Given the description of an element on the screen output the (x, y) to click on. 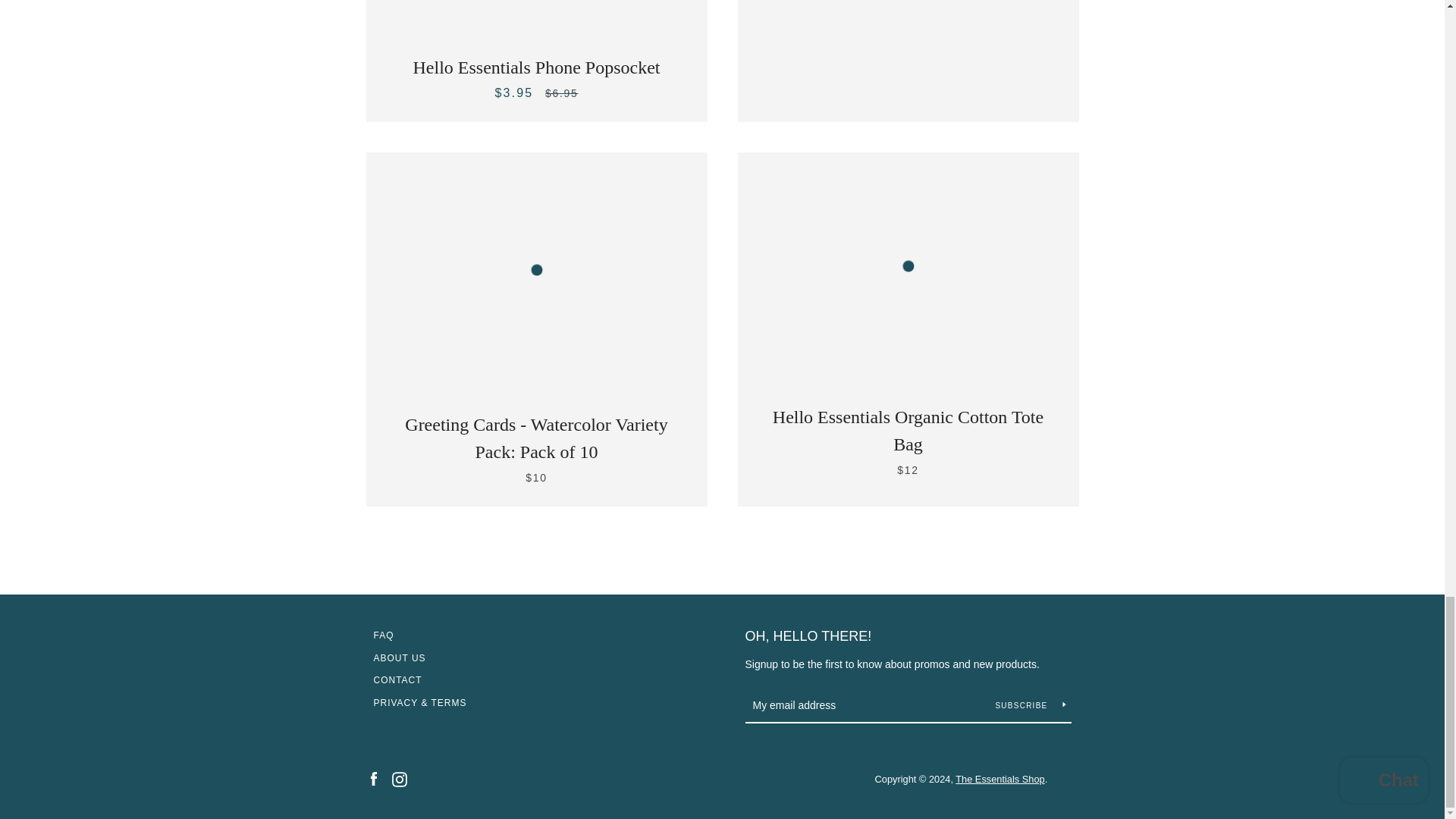
Instagram (399, 778)
ABOUT US (398, 657)
FAQ (382, 634)
SUBSCRIBE (1030, 704)
The Essentials Shop on Instagram (399, 778)
Facebook (372, 778)
The Essentials Shop on Facebook (372, 778)
CONTACT (397, 679)
The Essentials Shop (999, 778)
